Given the description of an element on the screen output the (x, y) to click on. 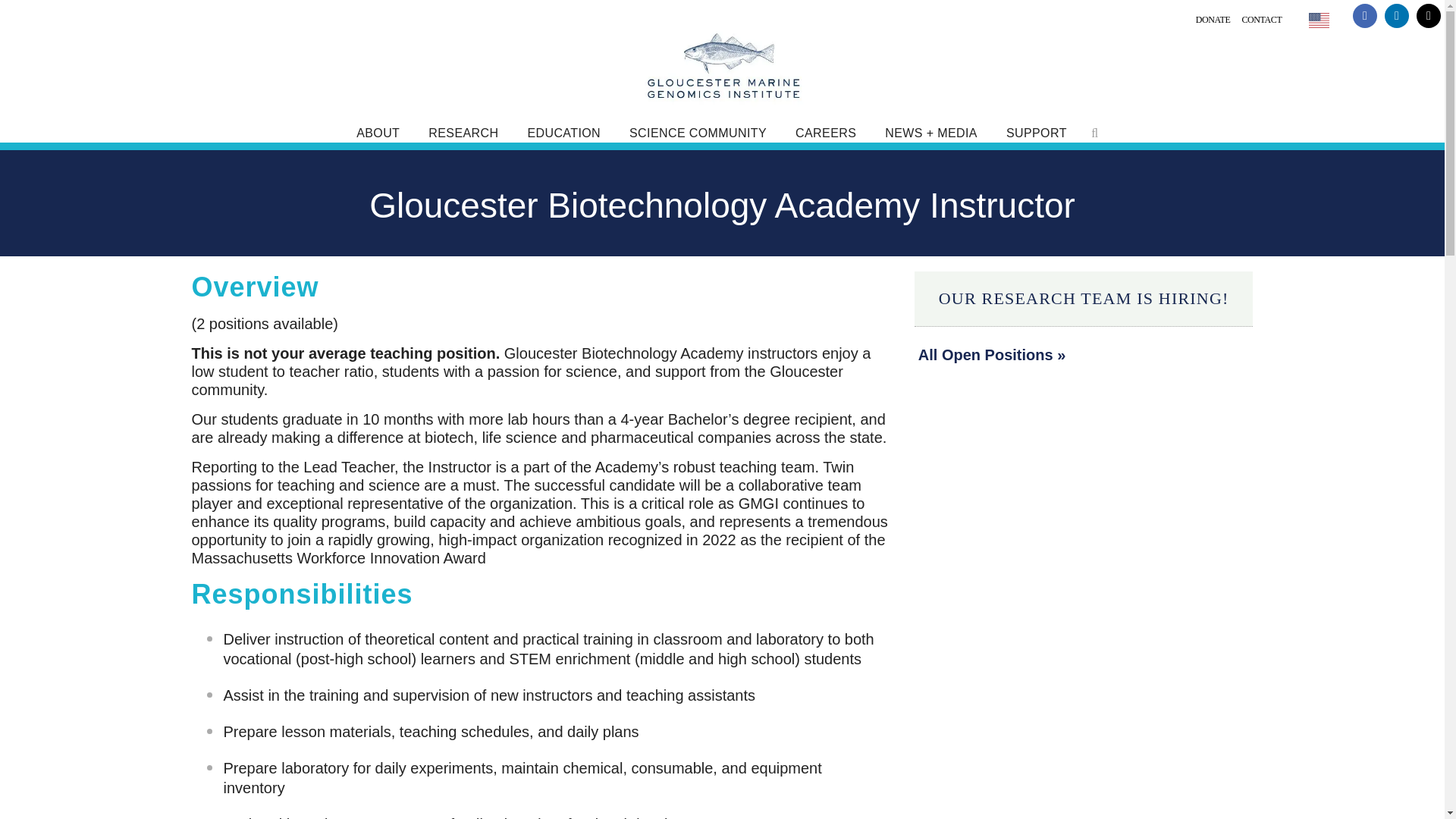
ABOUT (377, 133)
CONTACT (1255, 19)
RESEARCH (462, 133)
EDUCATION (563, 133)
DONATE (1207, 19)
